Given the description of an element on the screen output the (x, y) to click on. 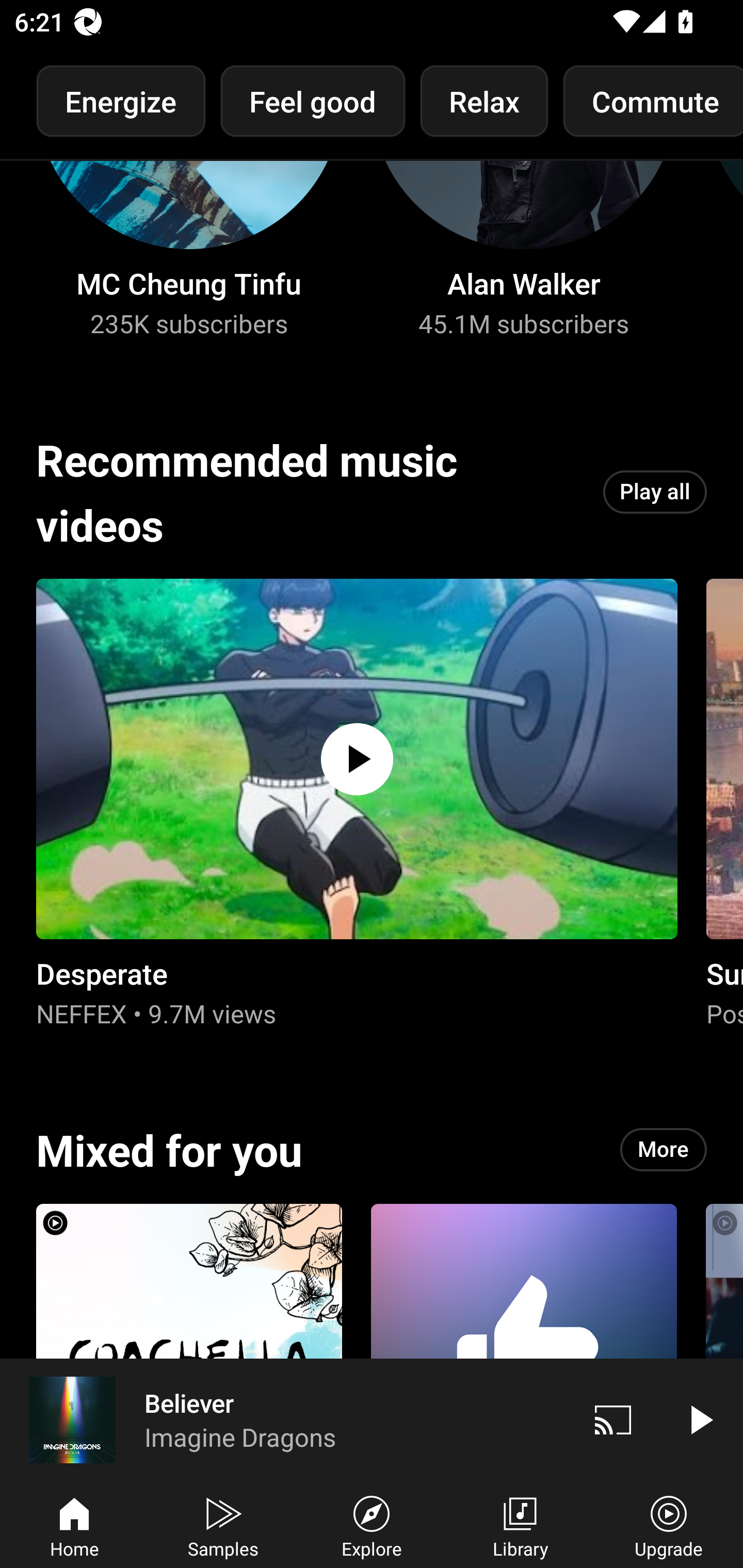
Believer Imagine Dragons (284, 1419)
Cast. Disconnected (612, 1419)
Play video (699, 1419)
Home (74, 1524)
Samples (222, 1524)
Explore (371, 1524)
Library (519, 1524)
Upgrade (668, 1524)
